Given the description of an element on the screen output the (x, y) to click on. 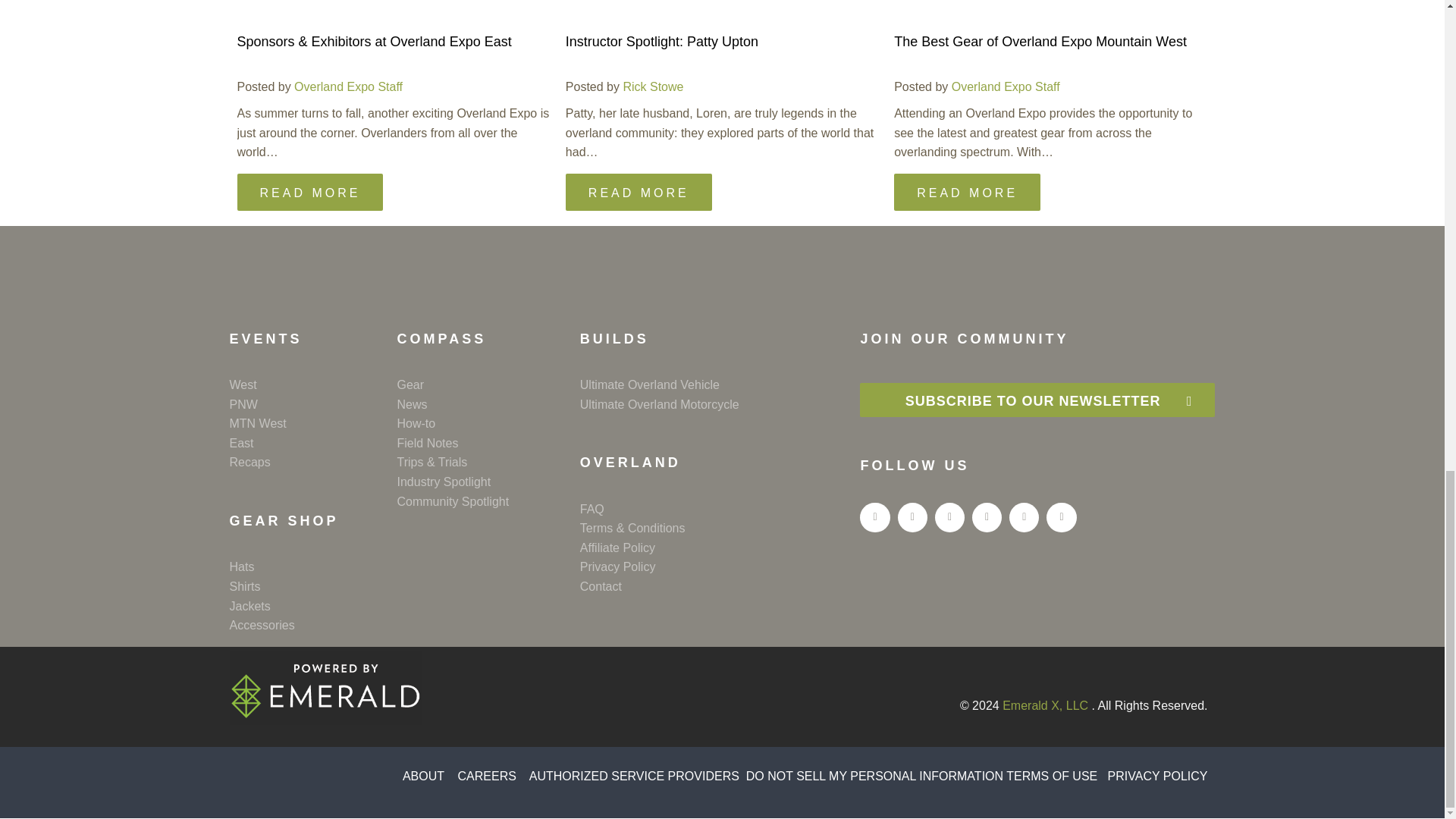
READ MORE (967, 191)
READ MORE (638, 191)
West (312, 384)
Accessories (312, 625)
READ MORE (308, 191)
Jackets (312, 606)
The Best Gear of Overland Expo Mountain West (1039, 41)
Overland Expo Staff (1005, 86)
Overland Expo Staff (348, 86)
PNW (312, 404)
